Given the description of an element on the screen output the (x, y) to click on. 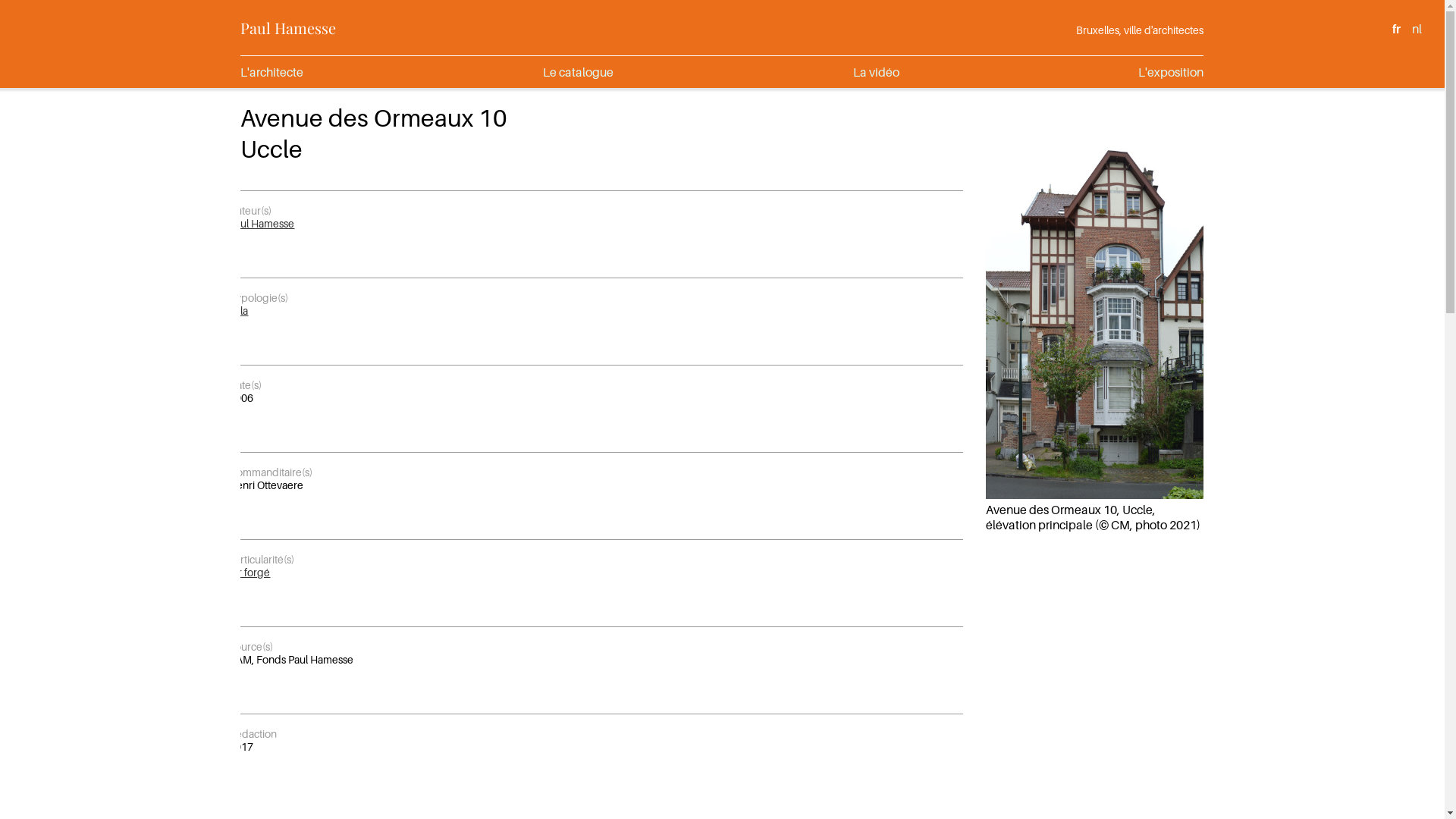
Villa Element type: text (238, 310)
Paul Hamesse Element type: text (287, 27)
nl Element type: text (1416, 28)
Bruxelles, ville d'architectes Element type: text (1139, 29)
L'exposition Element type: text (1170, 71)
Le catalogue Element type: text (577, 71)
fr Element type: text (1396, 28)
L'architecte Element type: text (271, 71)
Paul Hamesse Element type: text (261, 222)
